Given the description of an element on the screen output the (x, y) to click on. 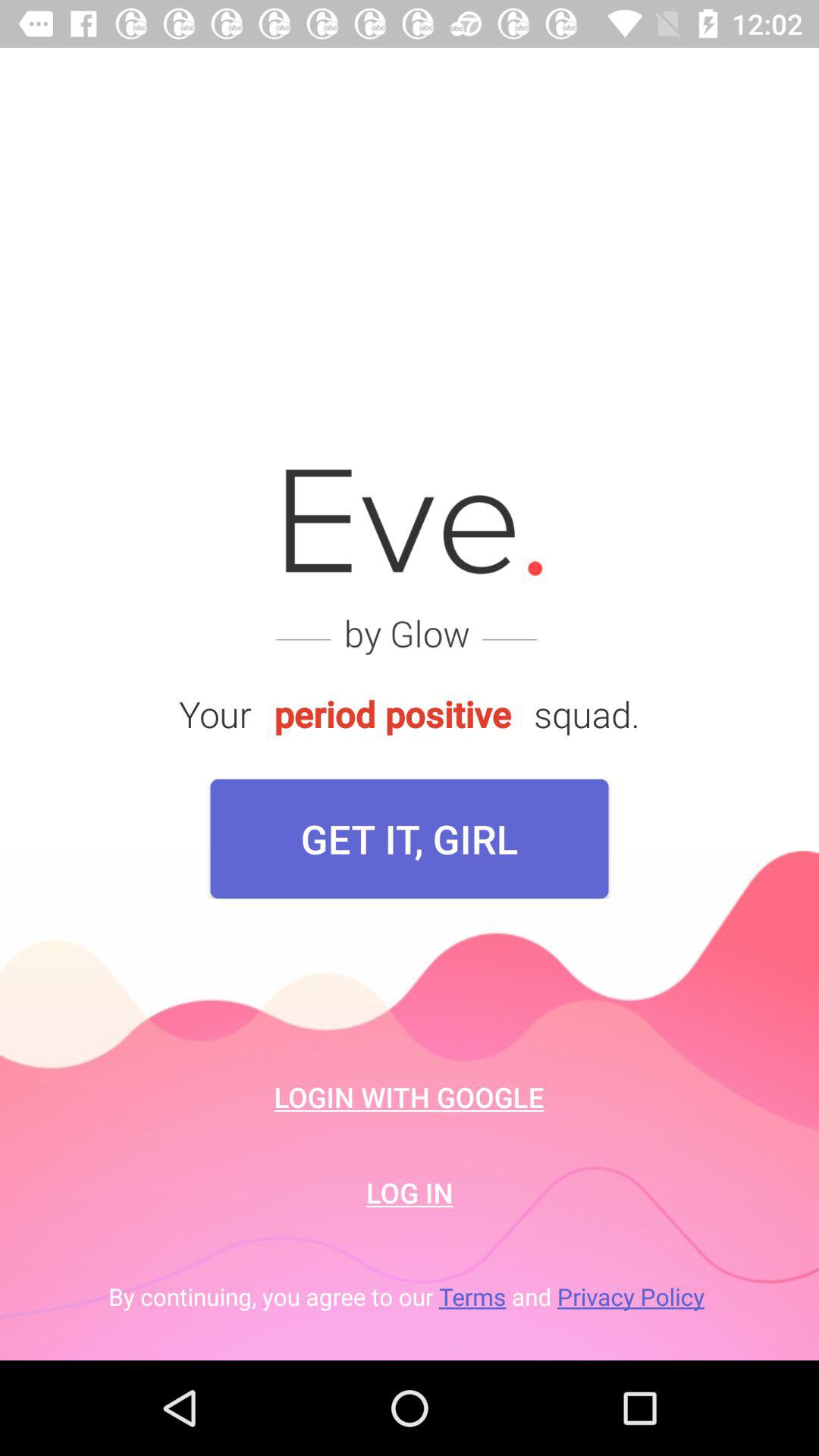
open the icon below the get it, girl item (409, 1096)
